Given the description of an element on the screen output the (x, y) to click on. 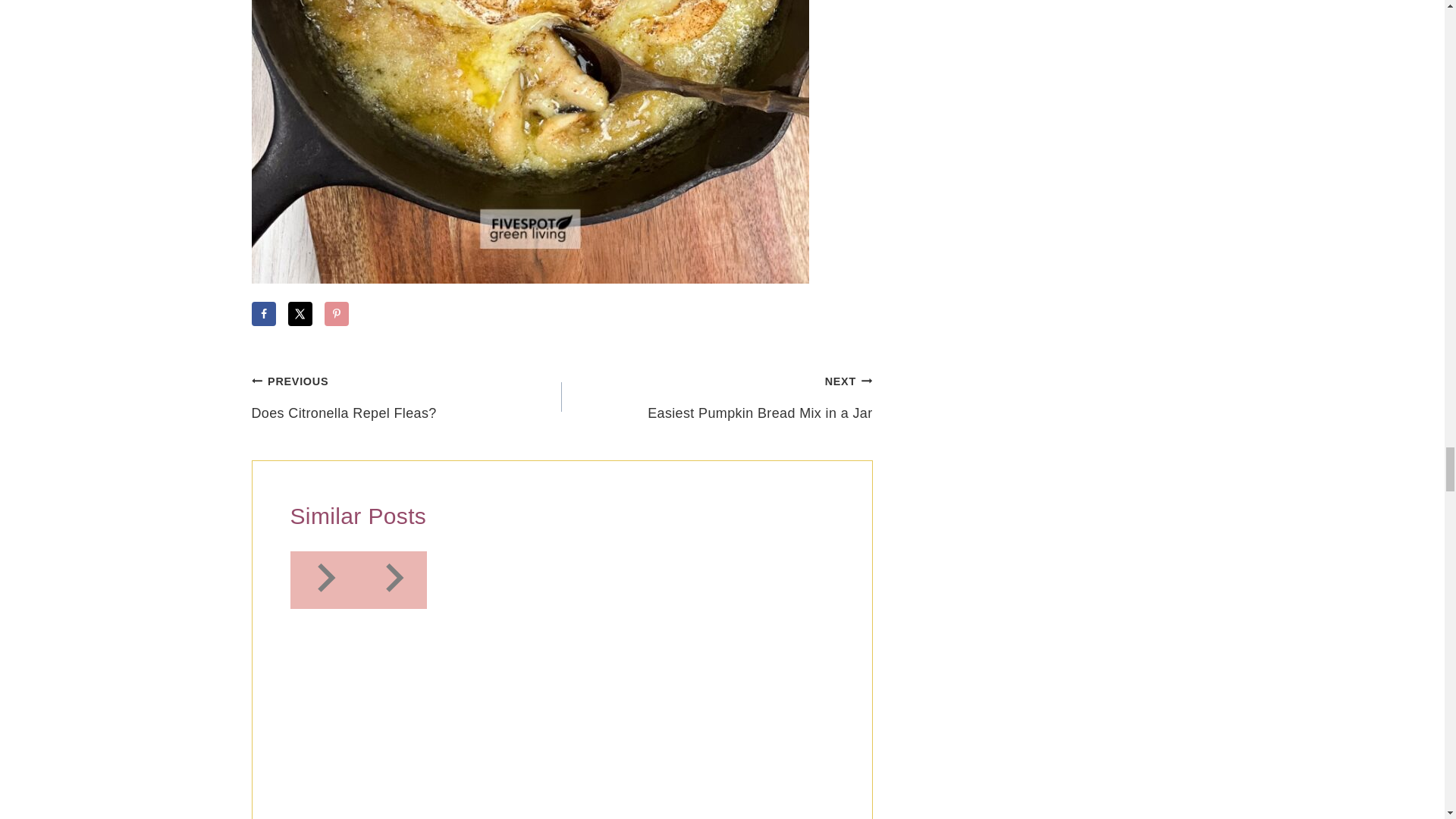
Save to Pinterest (336, 313)
Share on X (300, 313)
Share on Facebook (263, 313)
